Given the description of an element on the screen output the (x, y) to click on. 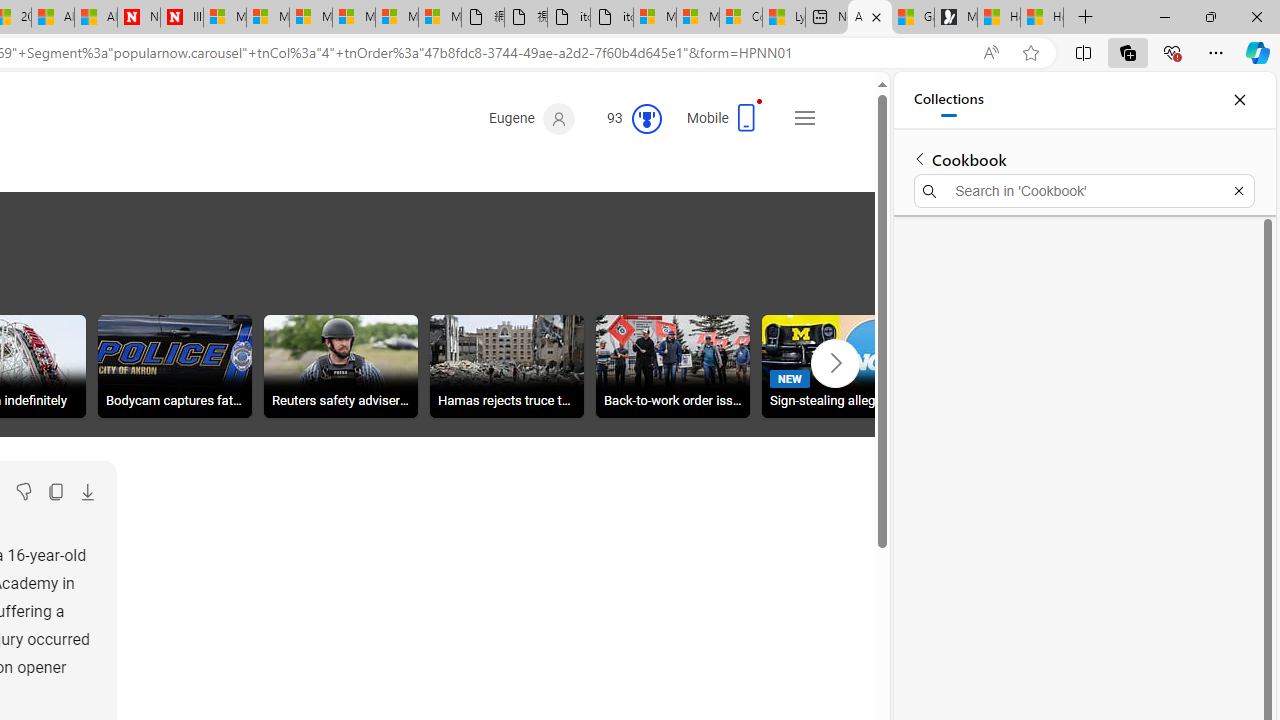
Illness news & latest pictures from Newsweek.com (182, 17)
Search in 'Cookbook' (1084, 190)
AutomationID: tob_right_arrow (834, 363)
Class: medal-circled (646, 118)
Hamas rejects truce terms (506, 365)
itconcepthk.com/projector_solutions.mp4 (612, 17)
Alabama high school quarterback dies - Search (869, 17)
